Given the description of an element on the screen output the (x, y) to click on. 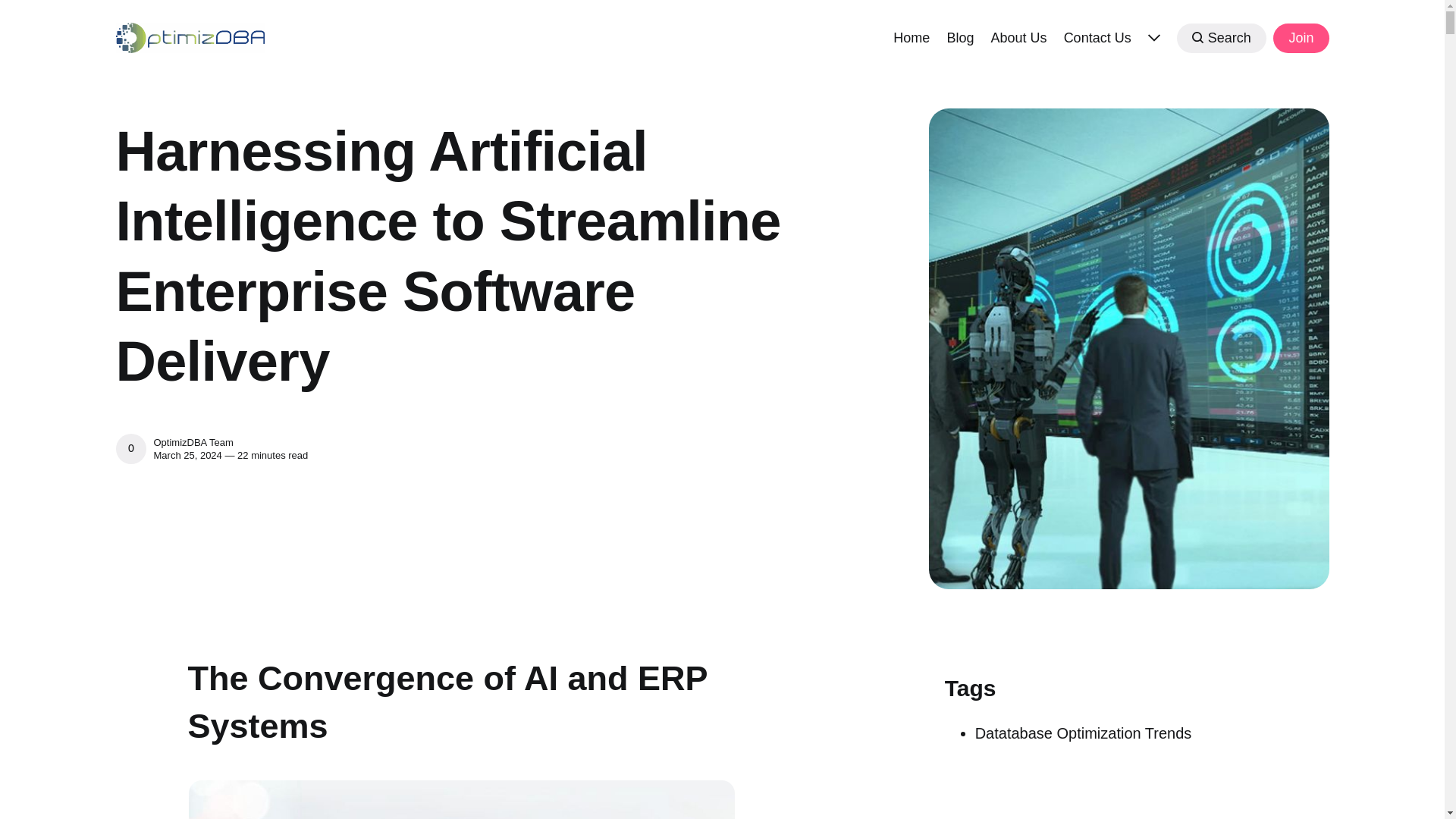
Blog (960, 37)
Home (911, 37)
Join (1299, 37)
OptimizDBA Team (130, 449)
About Us (1018, 37)
OptimizDBA Team (192, 441)
Contact Us (1097, 37)
Datatabase Optimization Trends (1083, 733)
